Given the description of an element on the screen output the (x, y) to click on. 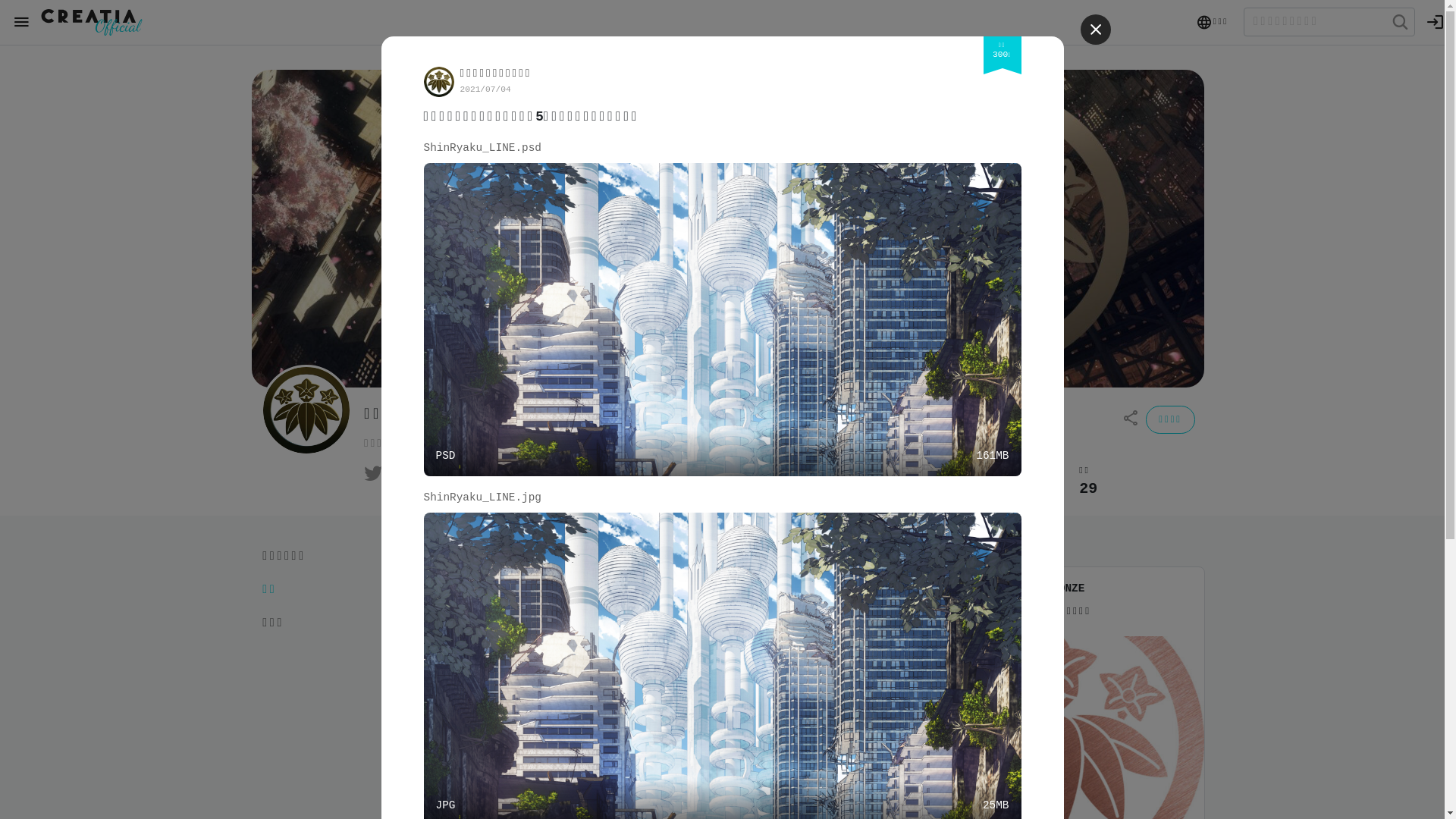
29 Element type: text (1088, 488)
